Given the description of an element on the screen output the (x, y) to click on. 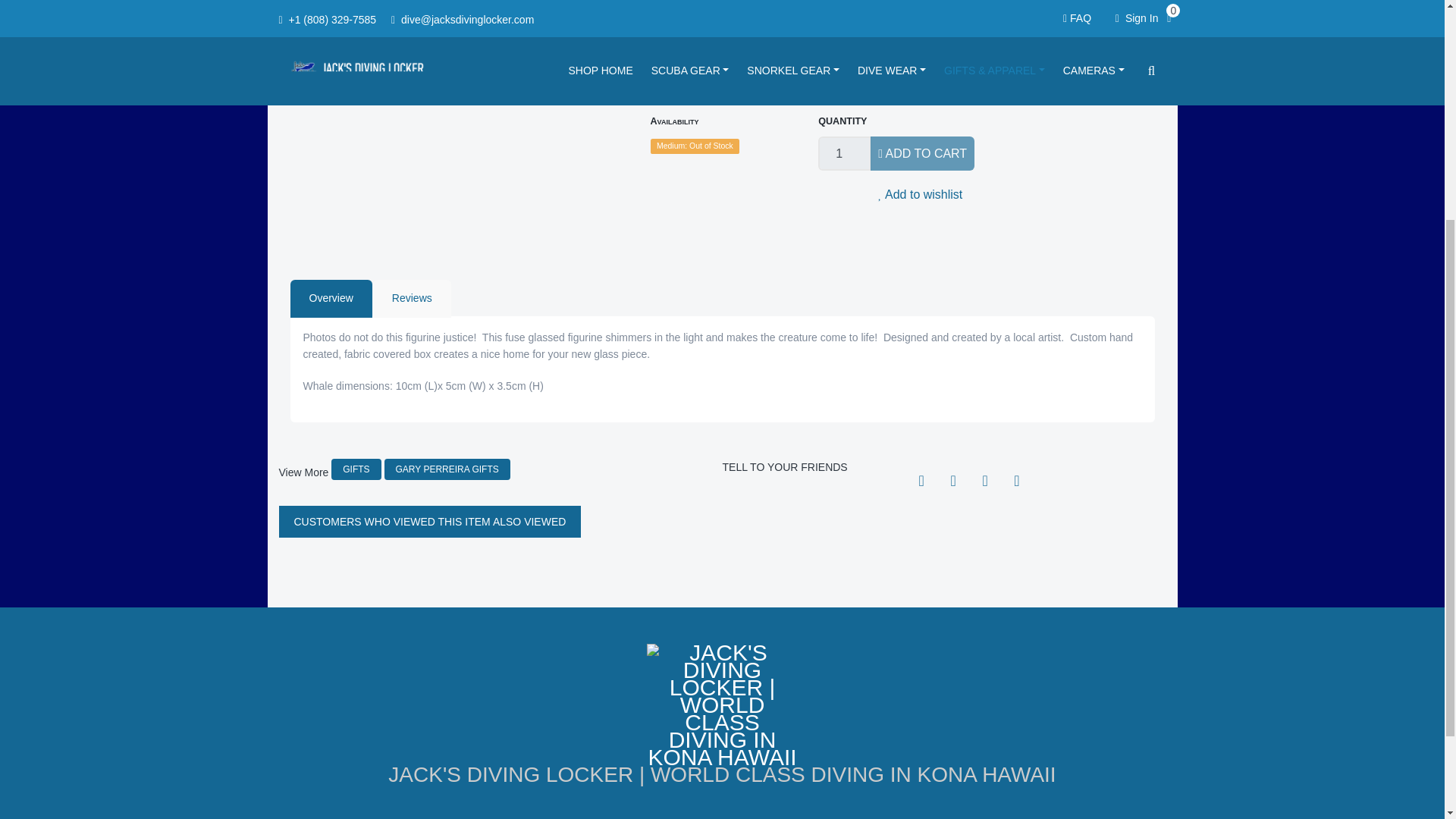
Facebook (920, 479)
1 (844, 153)
Twitter (952, 479)
LinkedIn (984, 479)
Tumblr (1016, 479)
